Given the description of an element on the screen output the (x, y) to click on. 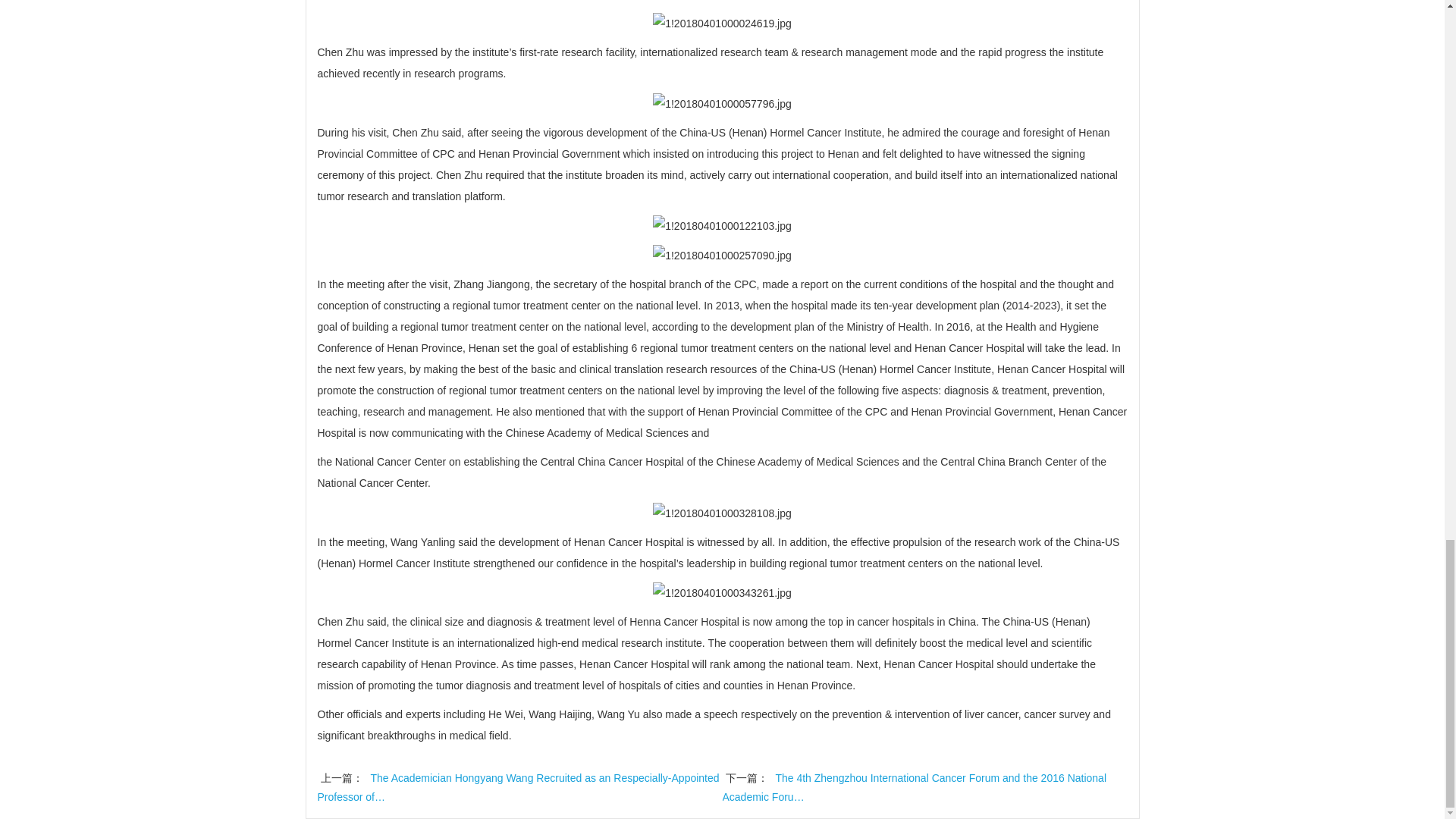
1!20180401000057796.jpg (722, 103)
1!20180401000257090.jpg (722, 255)
1!20180401000122103.jpg (722, 225)
1!20180401000024619.jpg (722, 23)
1!20180401000343261.jpg (722, 592)
1!20180401000328108.jpg (722, 513)
